Given the description of an element on the screen output the (x, y) to click on. 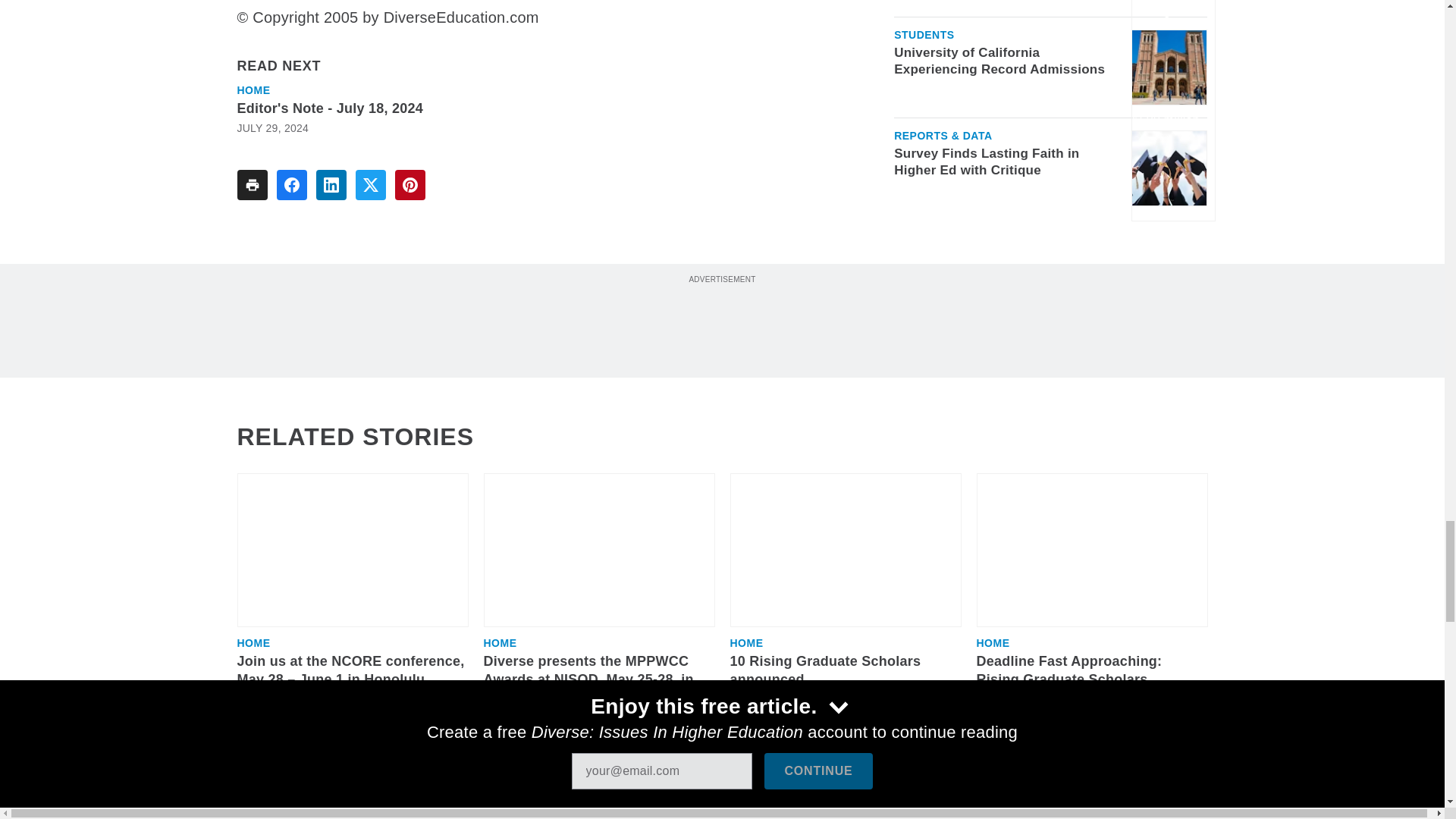
Share To facebook (290, 184)
Share To print (250, 184)
Share To linkedin (330, 184)
Home (252, 90)
